Given the description of an element on the screen output the (x, y) to click on. 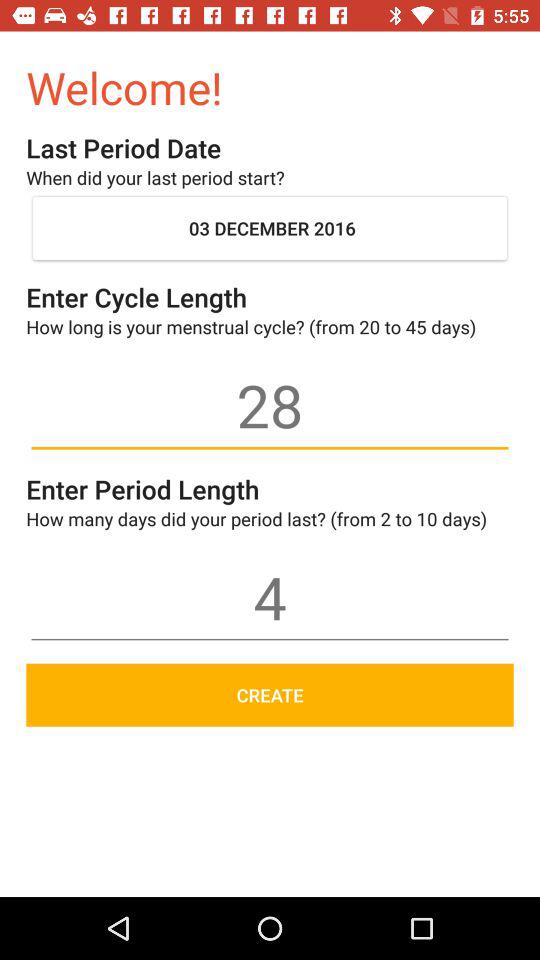
turn off 4 icon (269, 597)
